Given the description of an element on the screen output the (x, y) to click on. 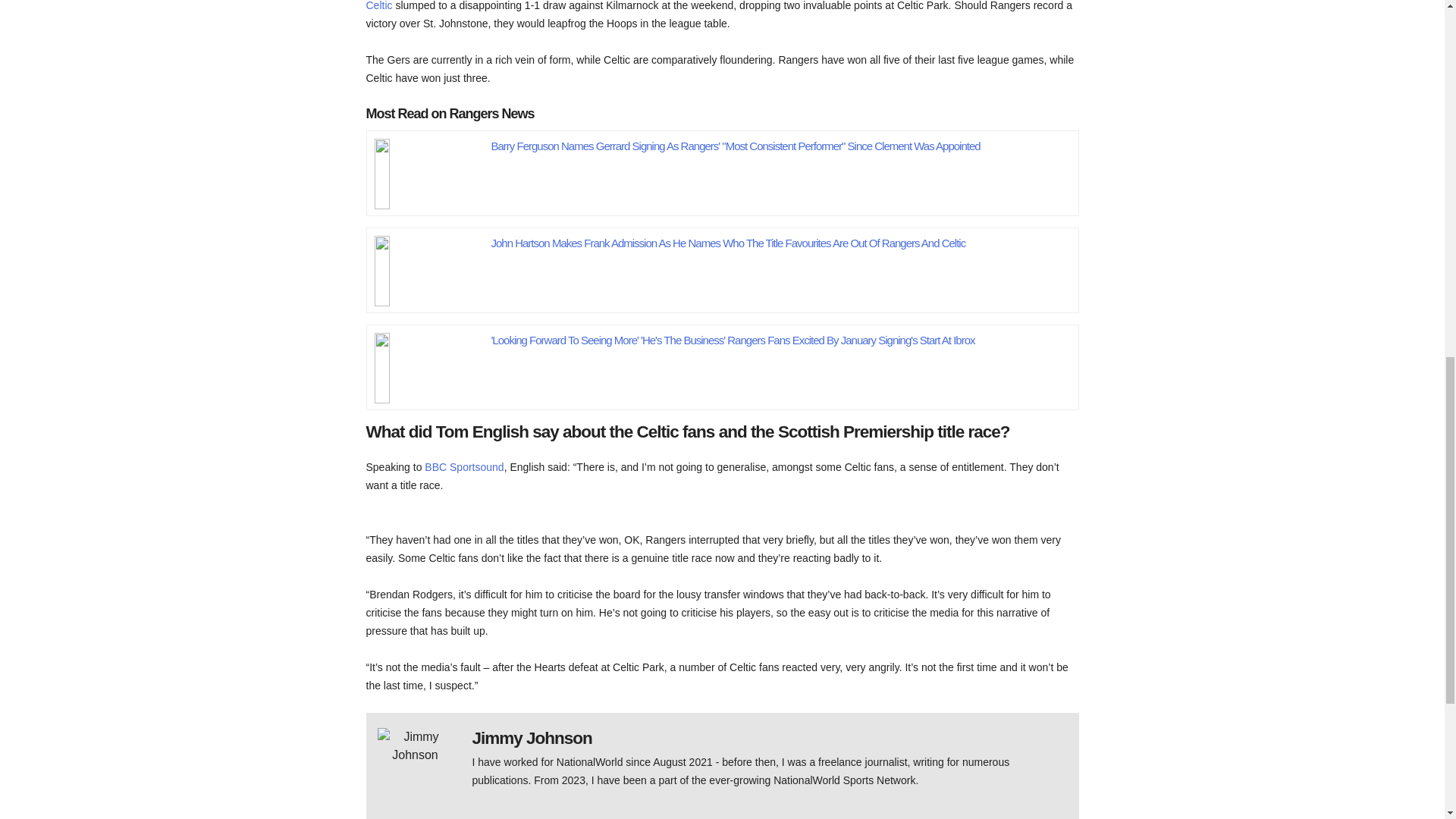
Celtic (378, 5)
BBC Sportsound (464, 467)
